Given the description of an element on the screen output the (x, y) to click on. 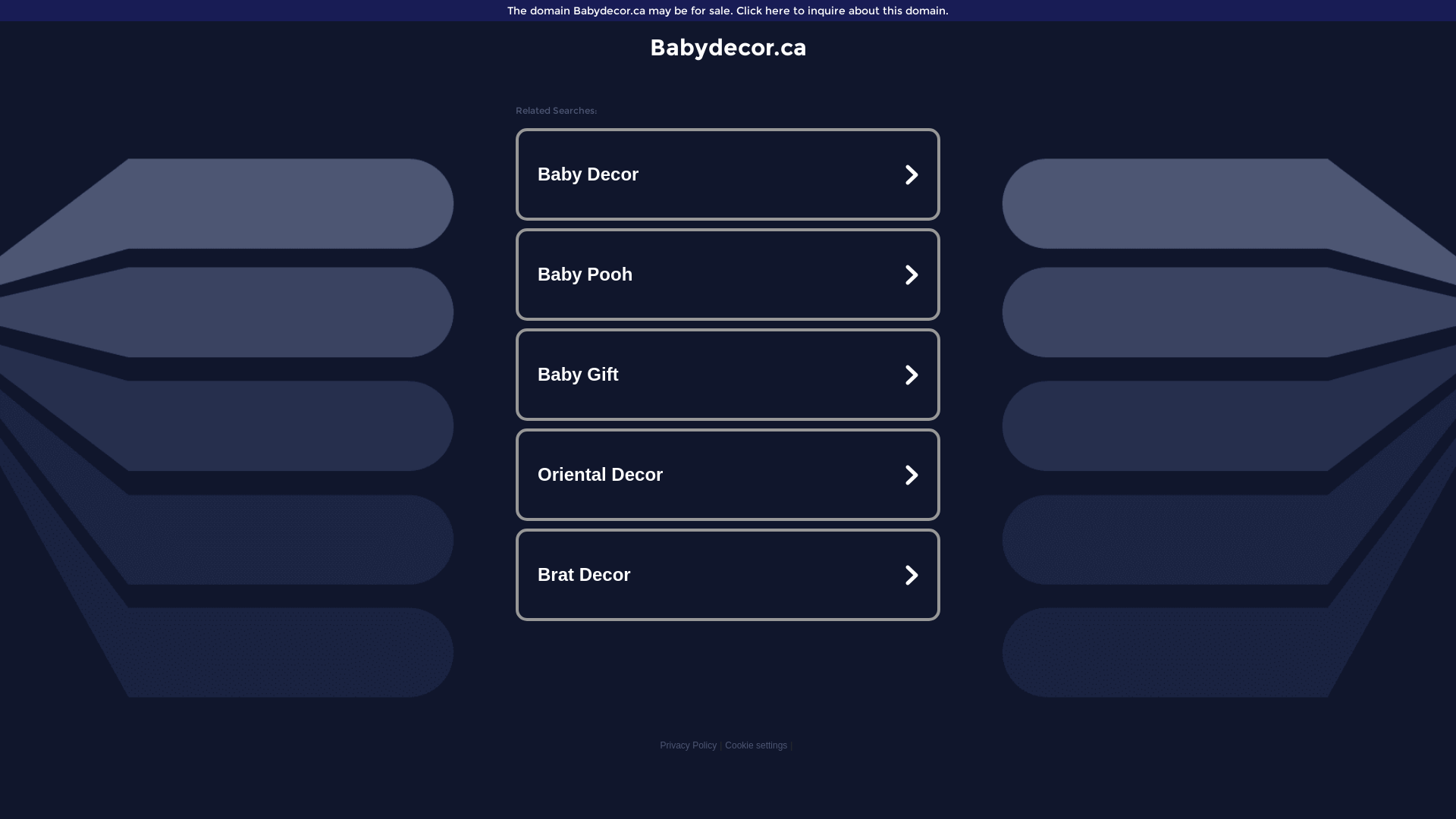
Cookie settings Element type: text (755, 745)
Baby Pooh Element type: text (727, 274)
Baby Gift Element type: text (727, 374)
Brat Decor Element type: text (727, 574)
Babydecor.ca Element type: text (727, 47)
Privacy Policy Element type: text (687, 745)
Baby Decor Element type: text (727, 174)
Oriental Decor Element type: text (727, 474)
